Given the description of an element on the screen output the (x, y) to click on. 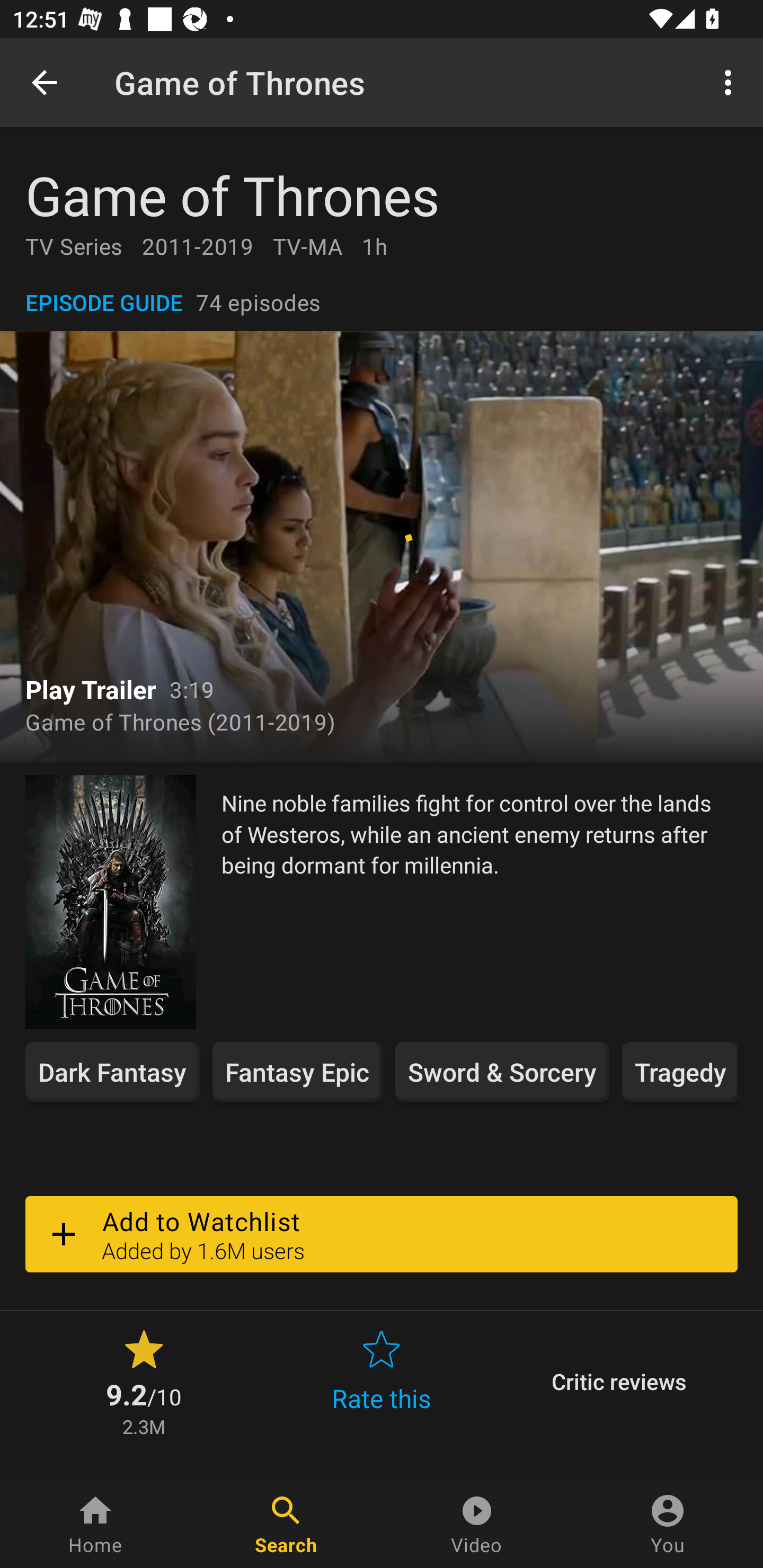
More options (731, 81)
EPISODE GUIDE 74 episodes (381, 302)
Dark Fantasy (112, 1072)
Fantasy Epic (297, 1072)
Sword & Sorcery (502, 1072)
Tragedy (679, 1072)
Add to Watchlist Added by 1.6M users (381, 1234)
9.2 /10 2.3M (143, 1381)
Rate this (381, 1381)
Critic reviews (618, 1381)
Home (95, 1523)
Video (476, 1523)
You (667, 1523)
